Given the description of an element on the screen output the (x, y) to click on. 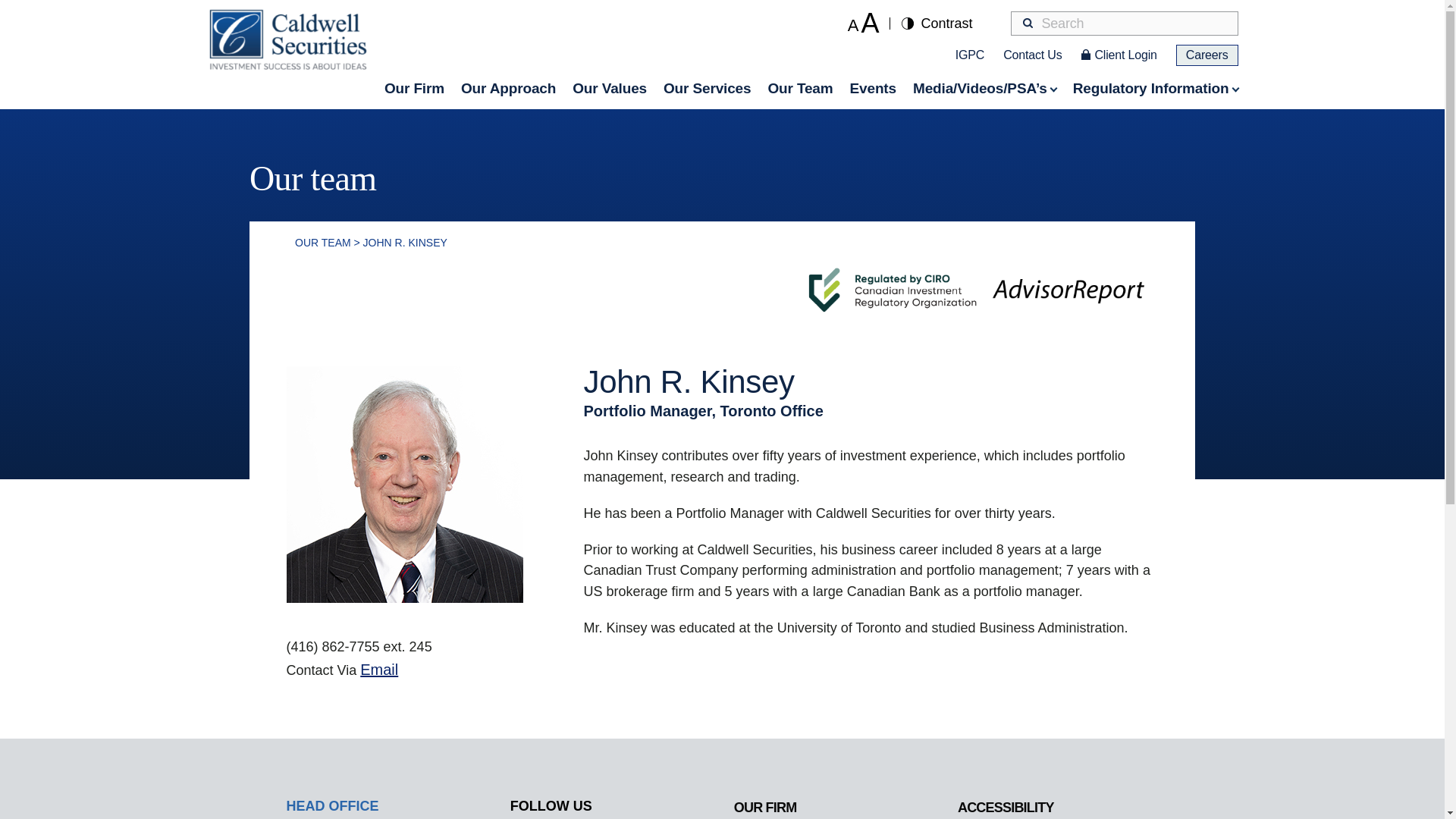
A (874, 22)
Our Firm (414, 88)
Contrast (936, 23)
Client Login (1125, 55)
Contact Us (1032, 55)
Our Approach (508, 88)
Go to Our Team. (322, 242)
Events (873, 88)
IGPC (969, 55)
Our Team (799, 88)
Careers (1207, 55)
Our Services (707, 88)
Regulatory Information (1156, 88)
Our Values (609, 88)
